Given the description of an element on the screen output the (x, y) to click on. 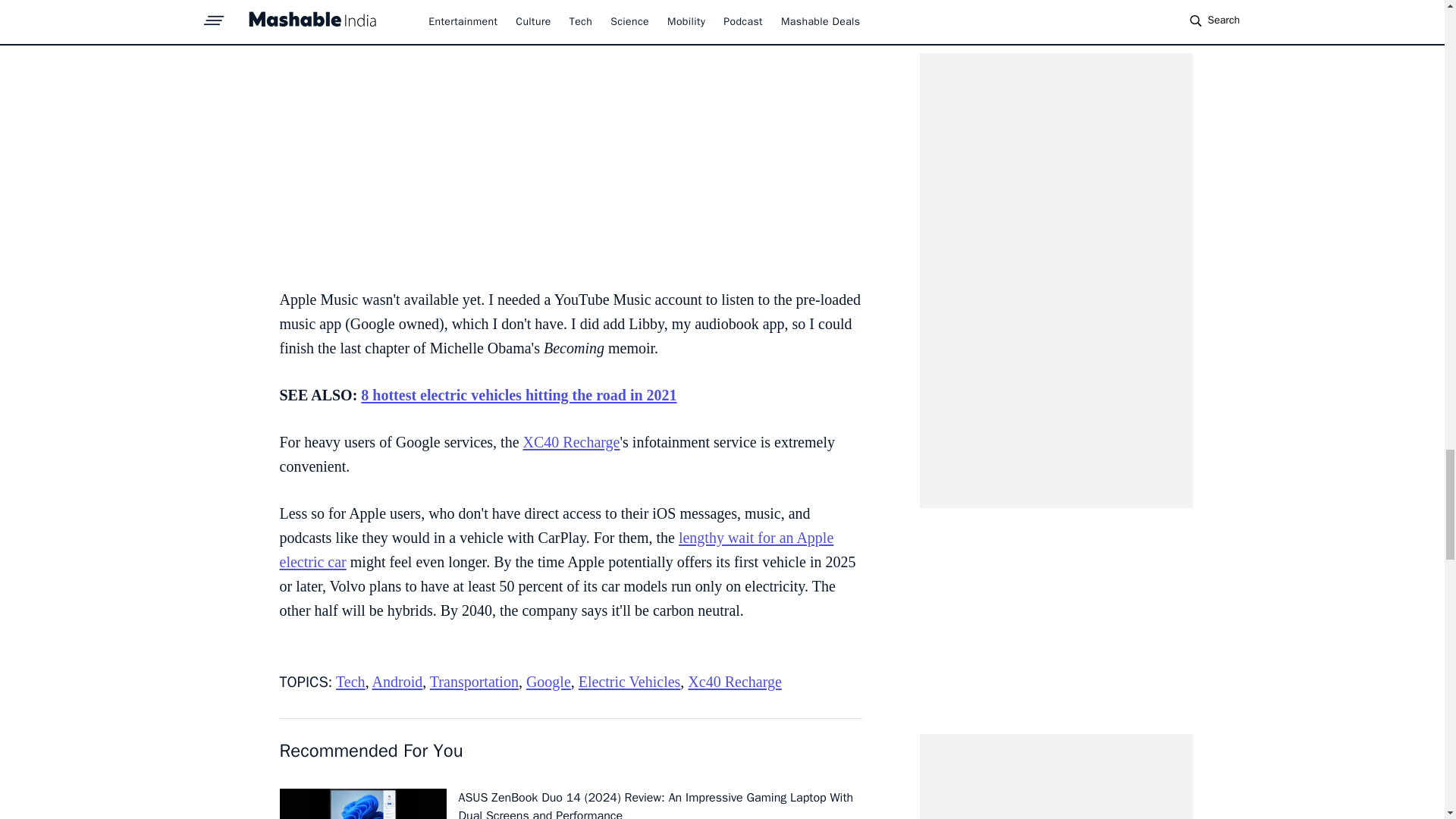
Android (397, 681)
lengthy wait for an Apple electric car (555, 549)
Transportation (473, 681)
Electric Vehicles (629, 681)
XC40 Recharge (571, 442)
Tech (350, 681)
8 hottest electric vehicles hitting the road in 2021 (519, 394)
Xc40 Recharge (733, 681)
Google (547, 681)
